Given the description of an element on the screen output the (x, y) to click on. 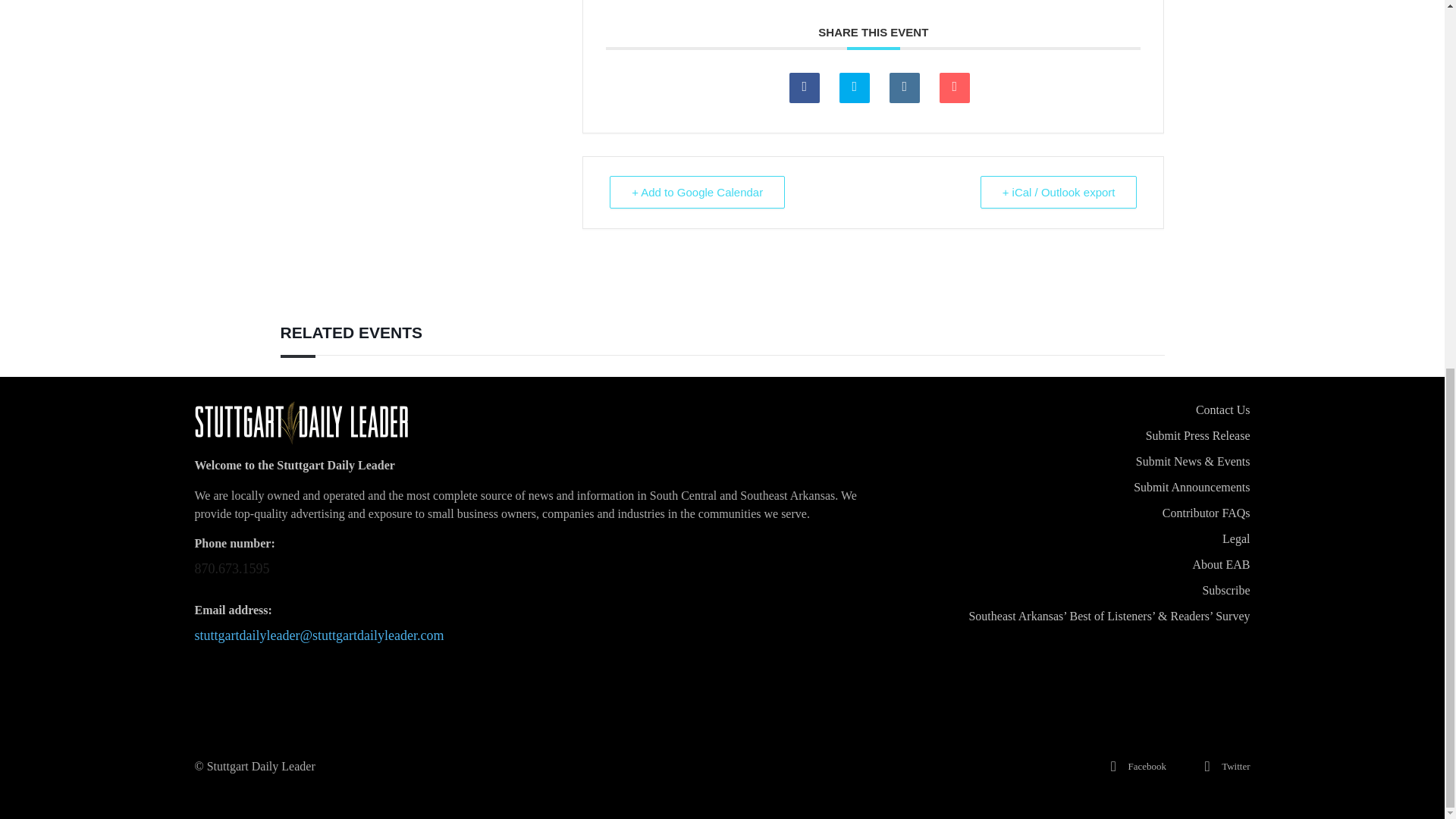
Share on Facebook (804, 87)
Tweet (854, 87)
Email (954, 87)
Linkedin (904, 87)
